Given the description of an element on the screen output the (x, y) to click on. 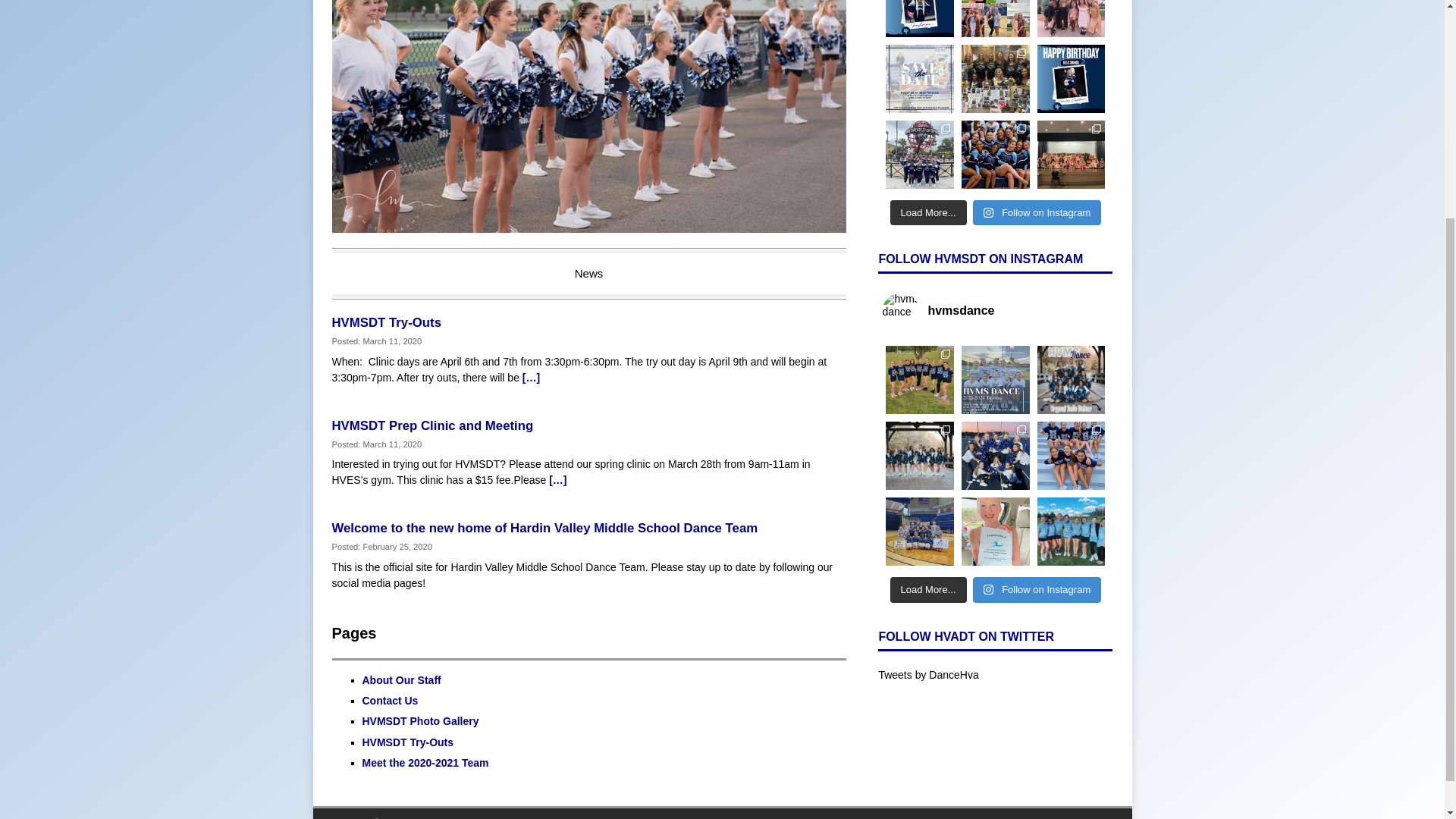
Contact Us (390, 700)
HVMSDT Try-Outs (531, 377)
About Our Staff (401, 680)
HVMSDT Prep Clinic and Meeting (557, 480)
HVMSDT Try-Outs (386, 322)
HVMSDT Prep Clinic and Meeting (432, 425)
